Given the description of an element on the screen output the (x, y) to click on. 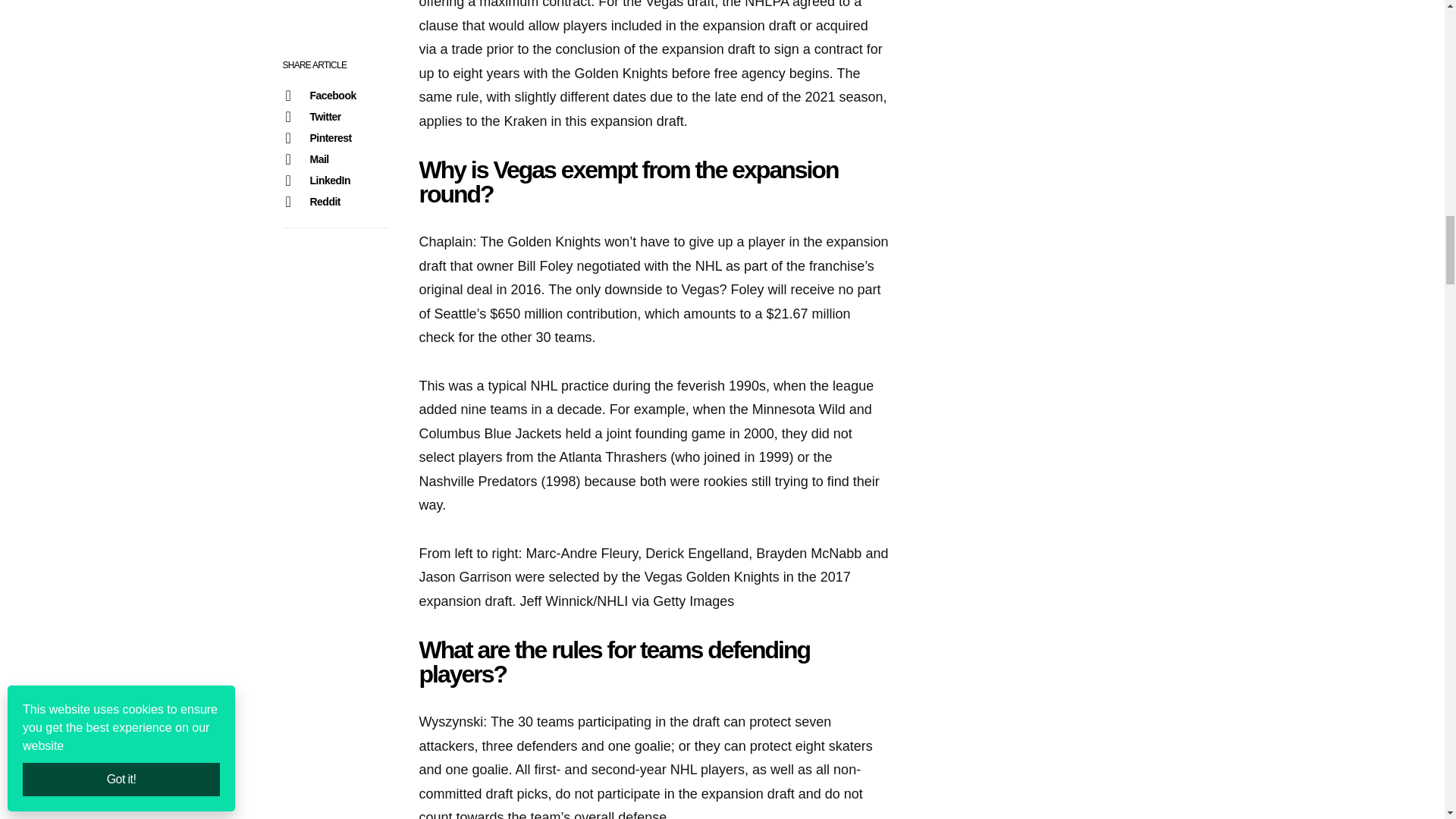
Buying a Headband Wig For Women (1130, 9)
